Given the description of an element on the screen output the (x, y) to click on. 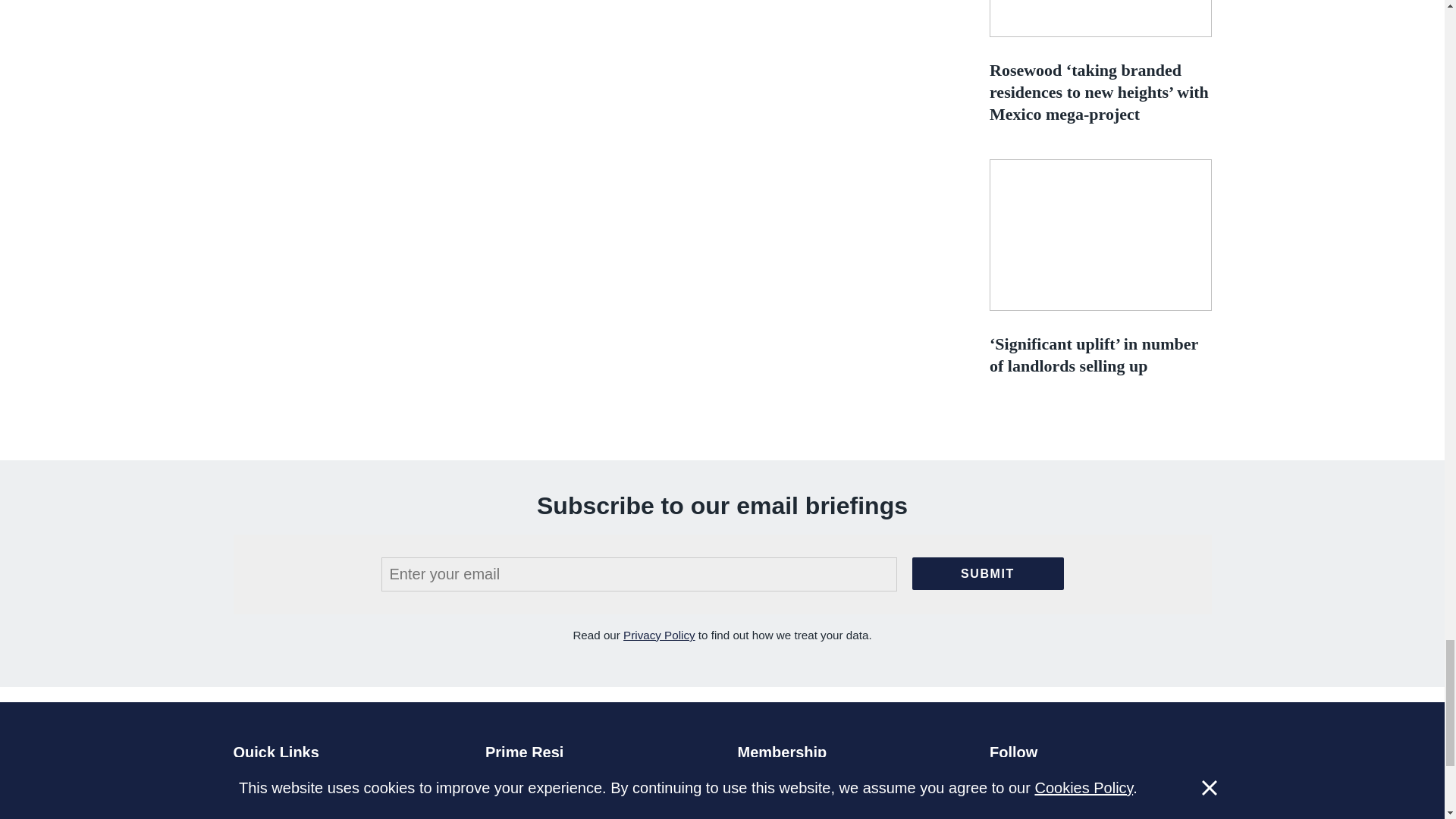
Submit (986, 573)
